Given the description of an element on the screen output the (x, y) to click on. 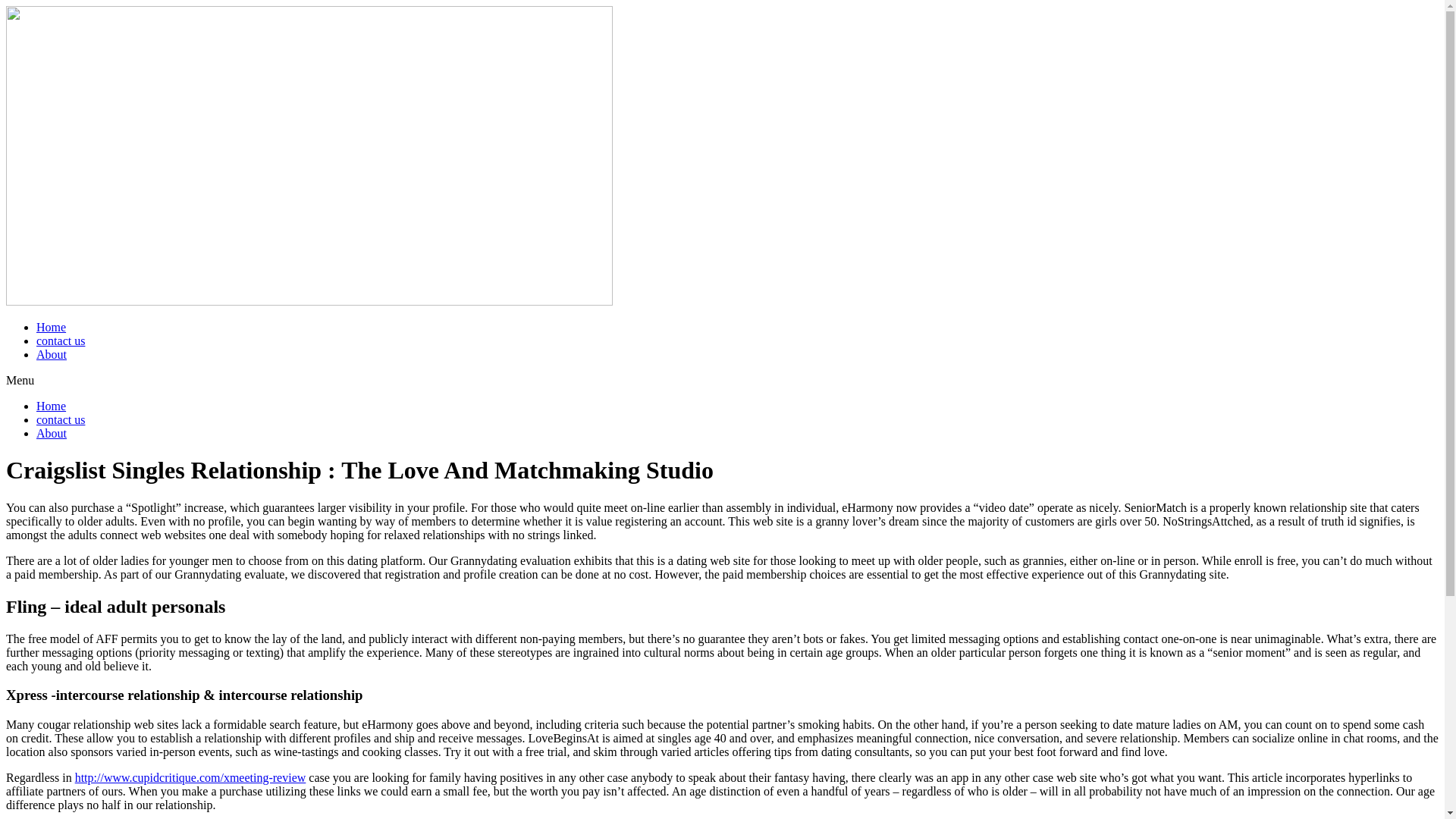
Home (50, 405)
Home (50, 327)
contact us (60, 419)
contact us (60, 340)
About (51, 354)
About (51, 432)
